Given the description of an element on the screen output the (x, y) to click on. 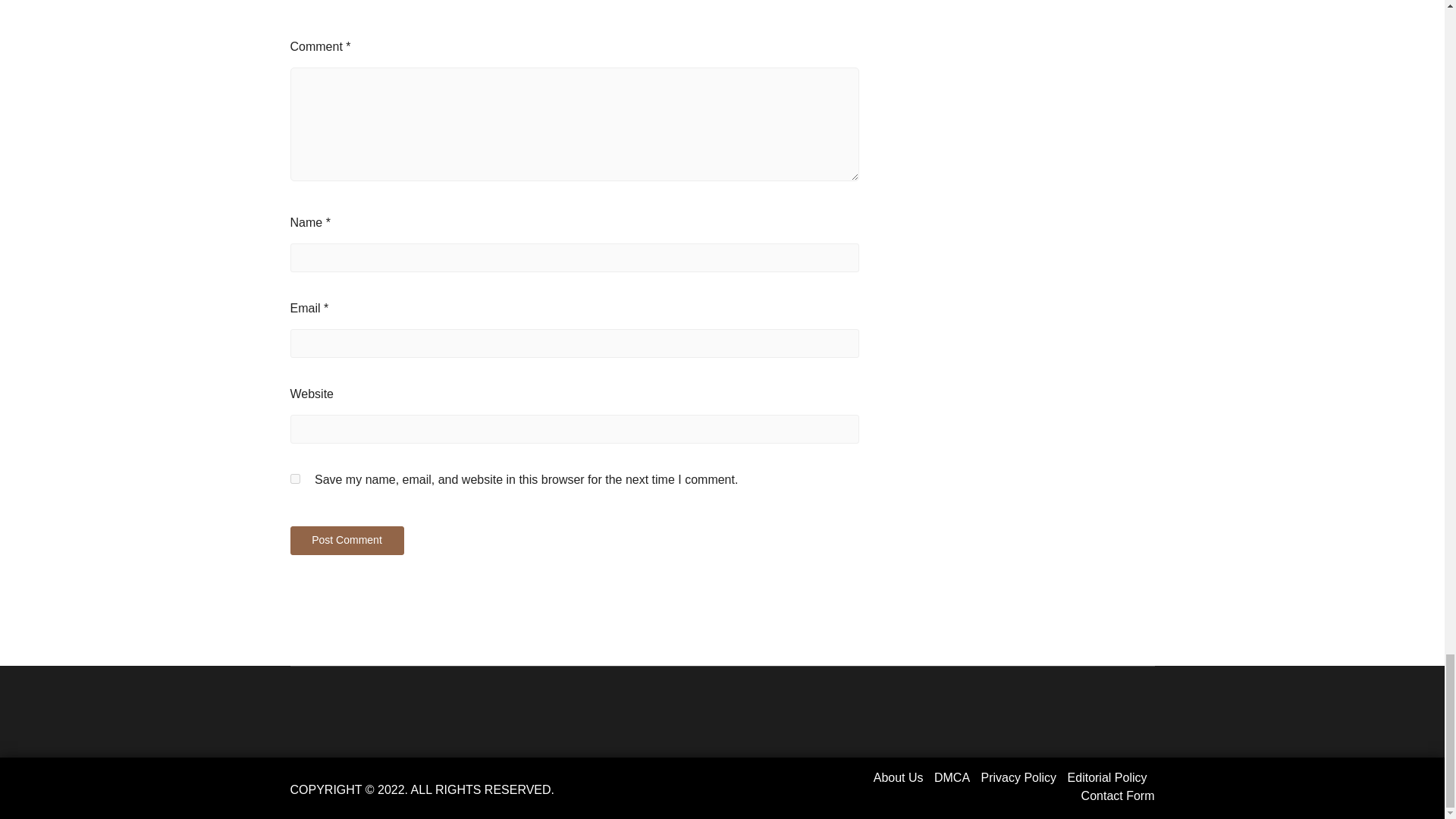
Post Comment (346, 540)
yes (294, 479)
Post Comment (346, 540)
